Given the description of an element on the screen output the (x, y) to click on. 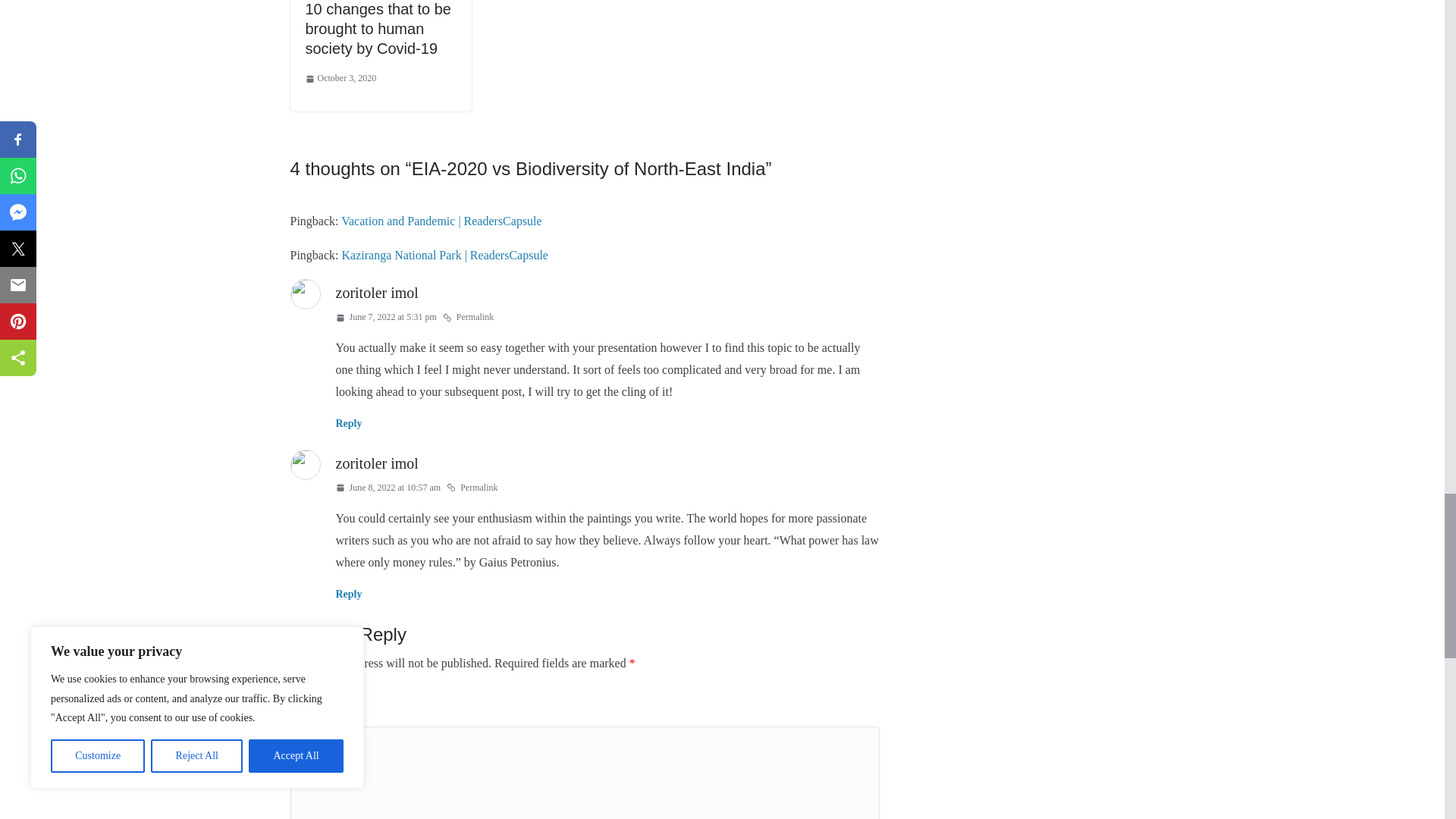
10 changes that to be brought to human society by Covid-19 (376, 28)
October 3, 2020 (339, 78)
5:28 pm (339, 78)
10 changes that to be brought to human society by Covid-19 (376, 28)
